Given the description of an element on the screen output the (x, y) to click on. 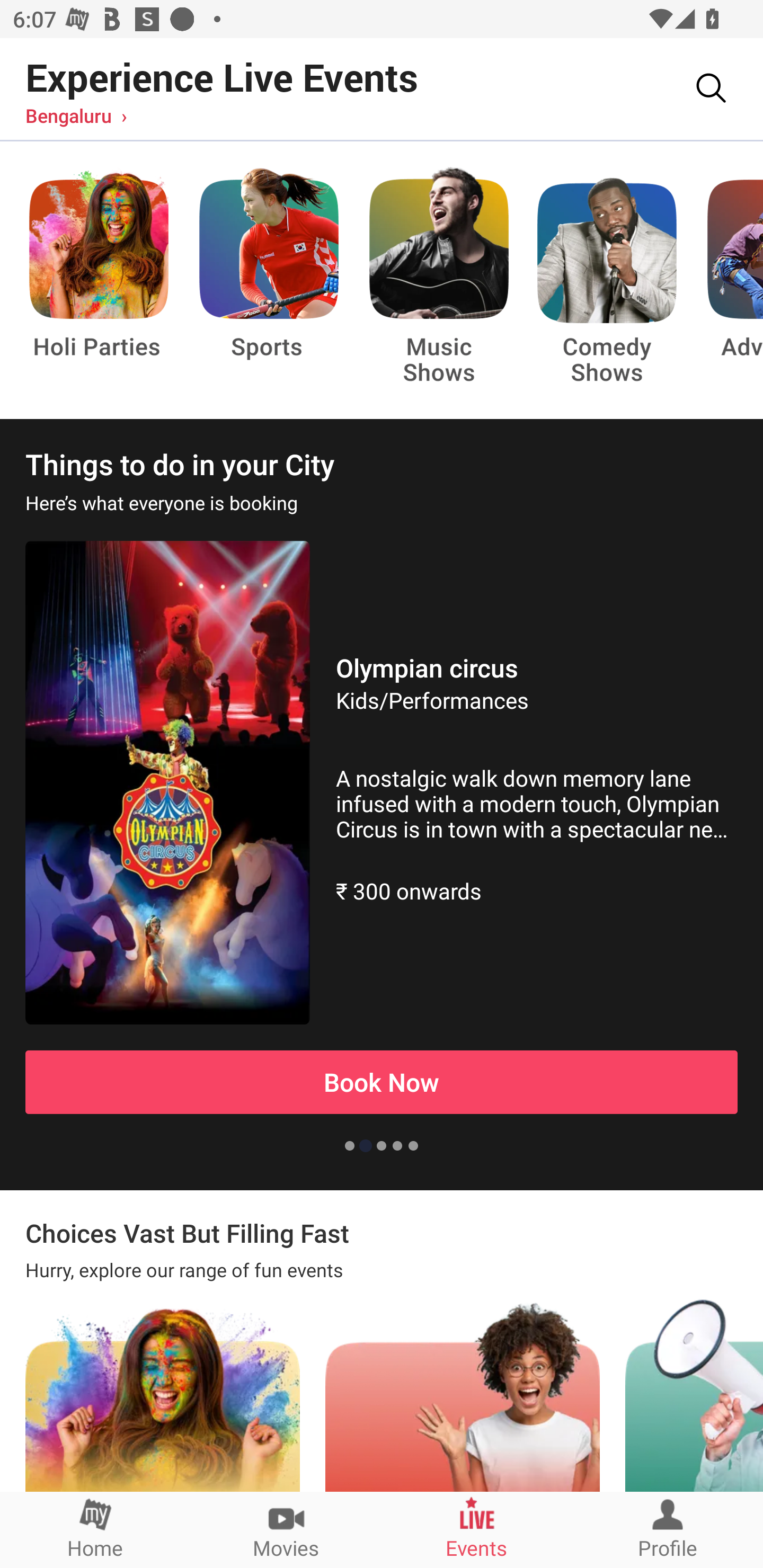
Bengaluru  › (76, 114)
Book Now (381, 1081)
Home (95, 1529)
Movies (285, 1529)
Events (476, 1529)
Profile (667, 1529)
